Given the description of an element on the screen output the (x, y) to click on. 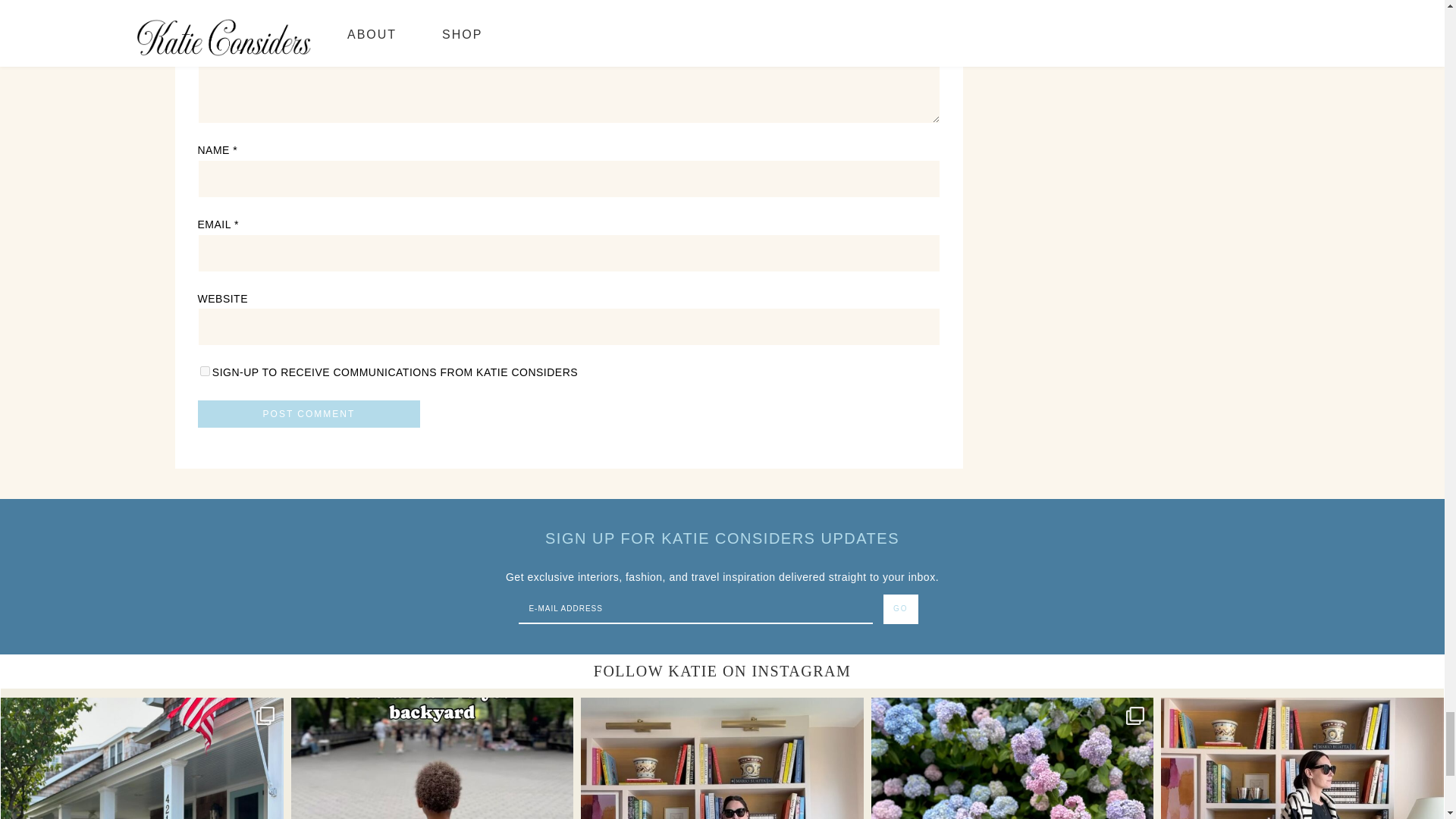
Go (900, 609)
Post Comment (308, 413)
1 (203, 370)
